Given the description of an element on the screen output the (x, y) to click on. 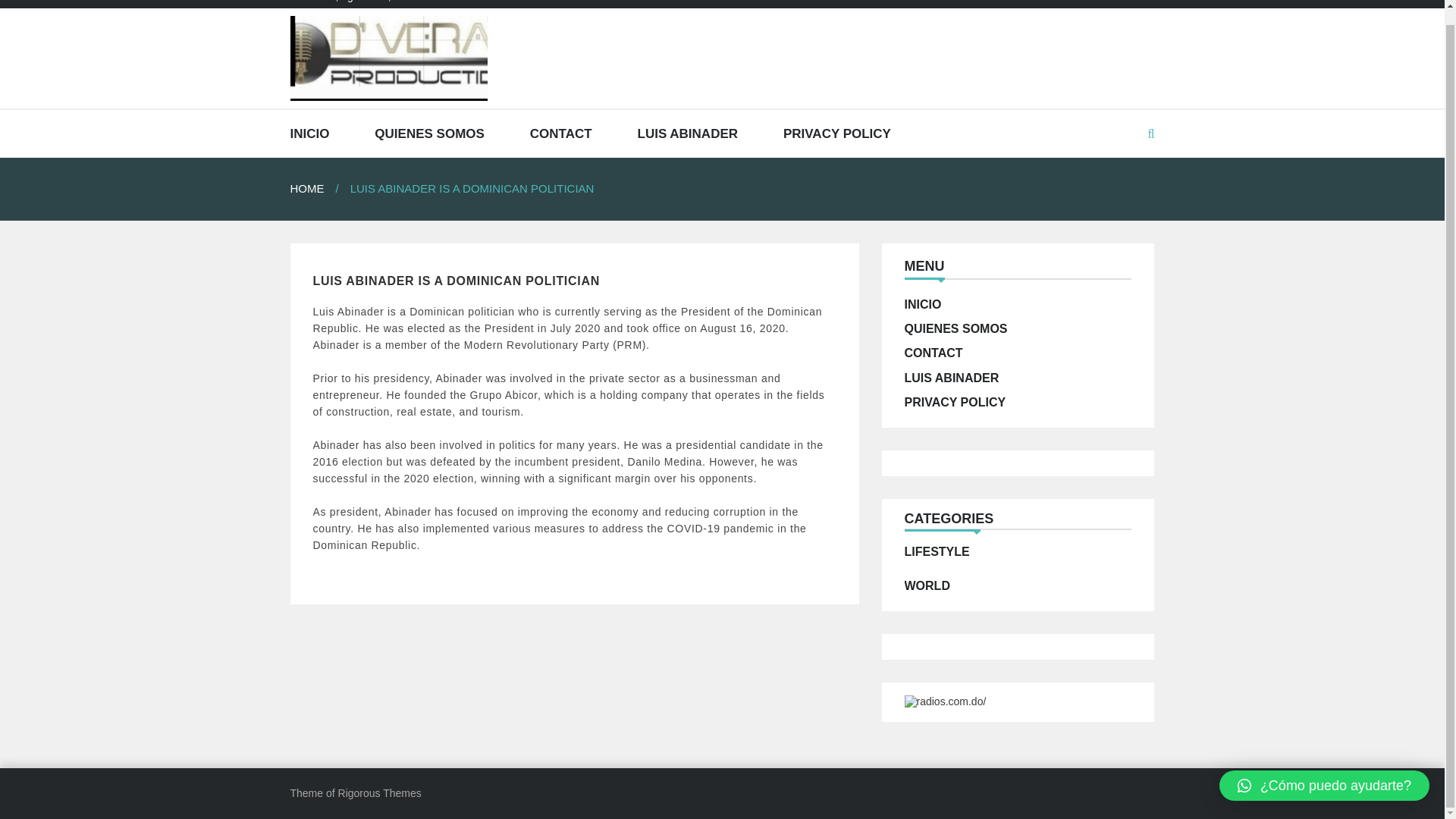
PRIVACY POLICY (955, 401)
PRIVACY POLICY (837, 133)
CONTACT (933, 352)
INICIO (922, 304)
WORLD (926, 585)
LIFESTYLE (936, 551)
Rigorous Themes (379, 793)
HOME (319, 187)
LUIS ABINADER (687, 133)
LUIS ABINADER (951, 377)
